Given the description of an element on the screen output the (x, y) to click on. 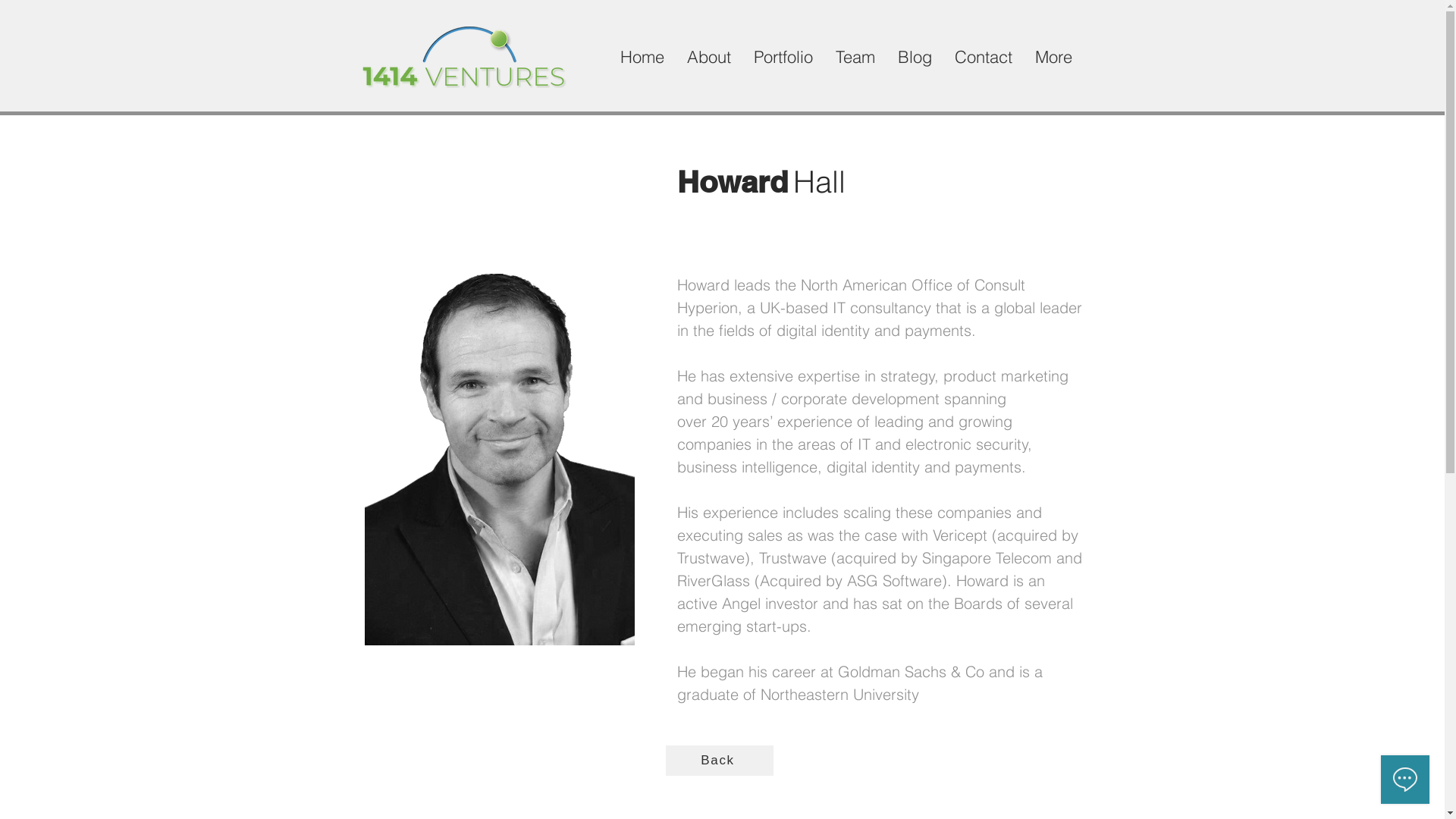
Home Element type: text (641, 56)
Contact Element type: text (983, 56)
Blog Element type: text (913, 56)
Team Element type: text (854, 56)
Back Element type: text (719, 760)
Portfolio Element type: text (782, 56)
About Element type: text (707, 56)
More Element type: text (1053, 56)
